Given the description of an element on the screen output the (x, y) to click on. 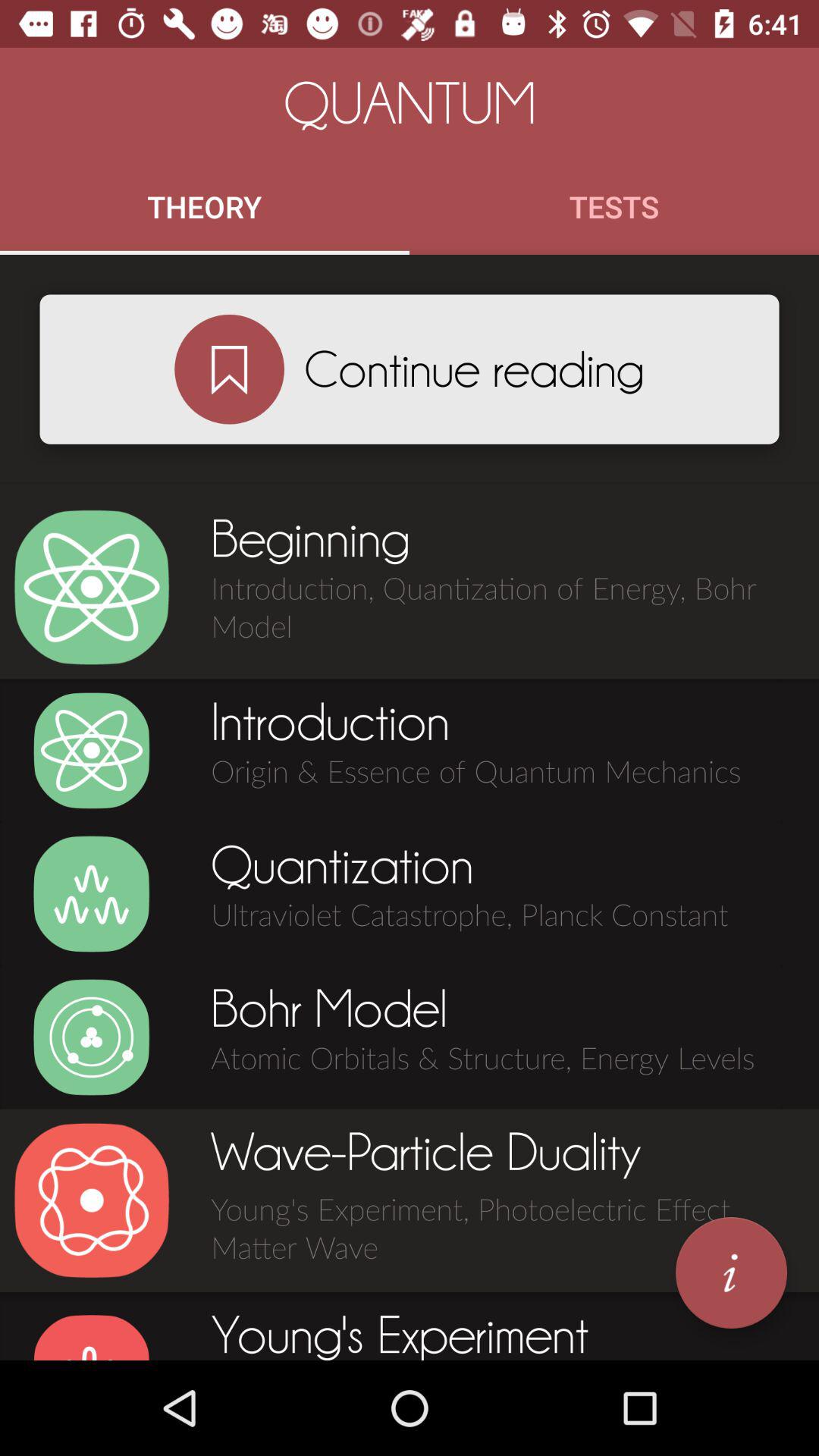
click for young 's experiment (91, 1336)
